Given the description of an element on the screen output the (x, y) to click on. 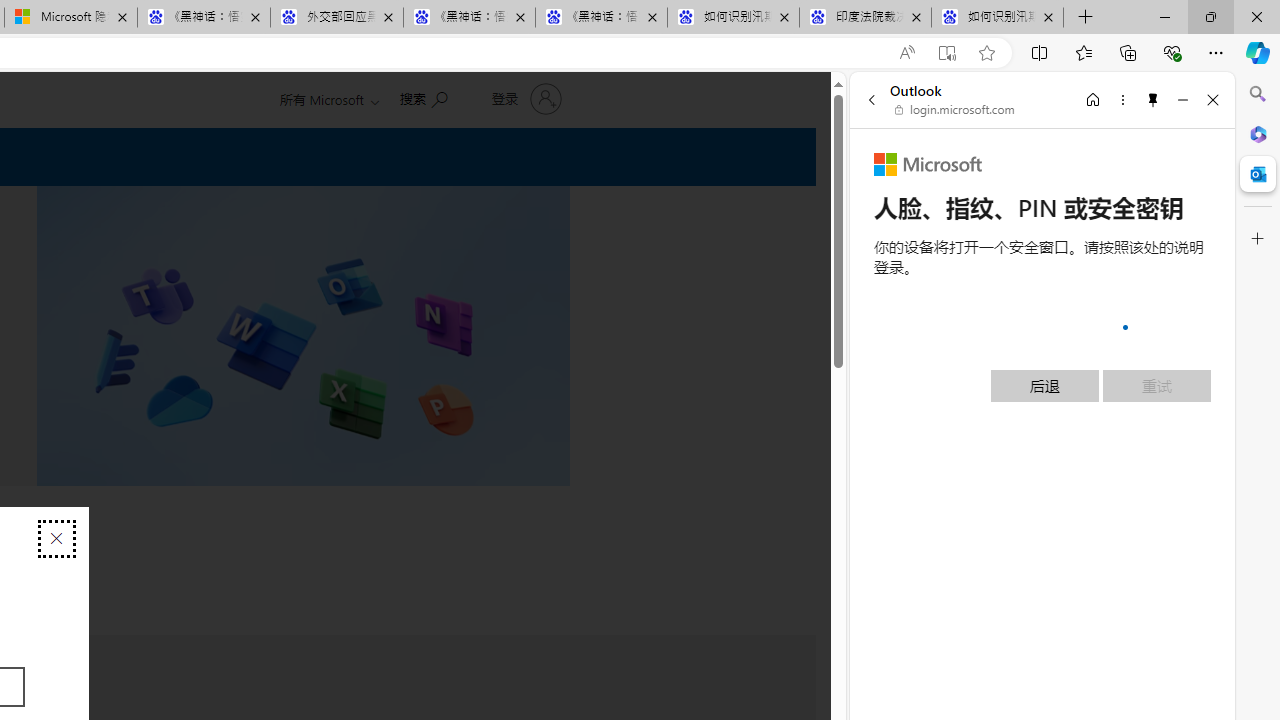
Close Outlook pane (1258, 174)
login.microsoft.com (955, 110)
More options (1122, 99)
